Given the description of an element on the screen output the (x, y) to click on. 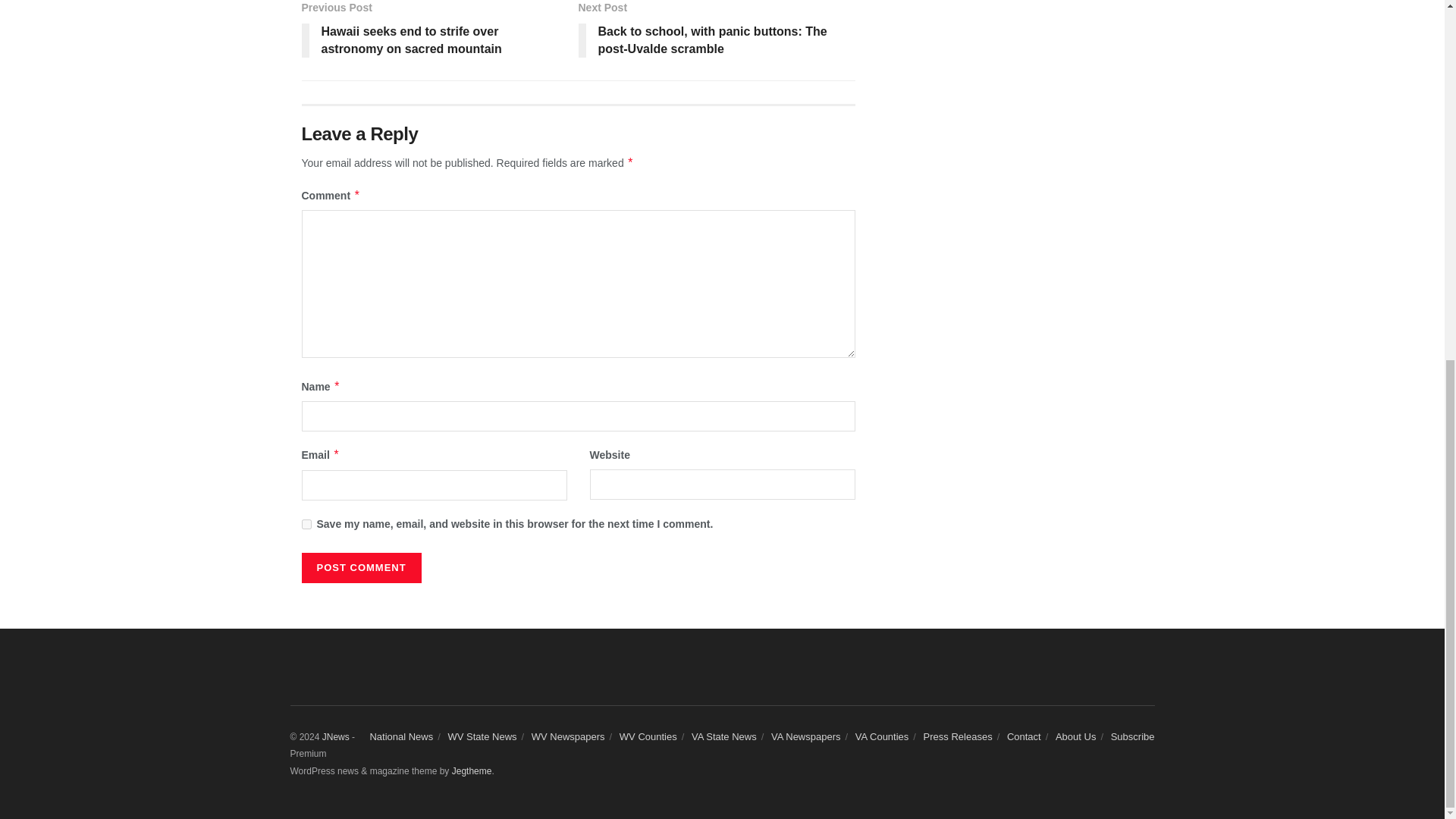
Post Comment (361, 567)
yes (306, 524)
Jegtheme (471, 770)
